Given the description of an element on the screen output the (x, y) to click on. 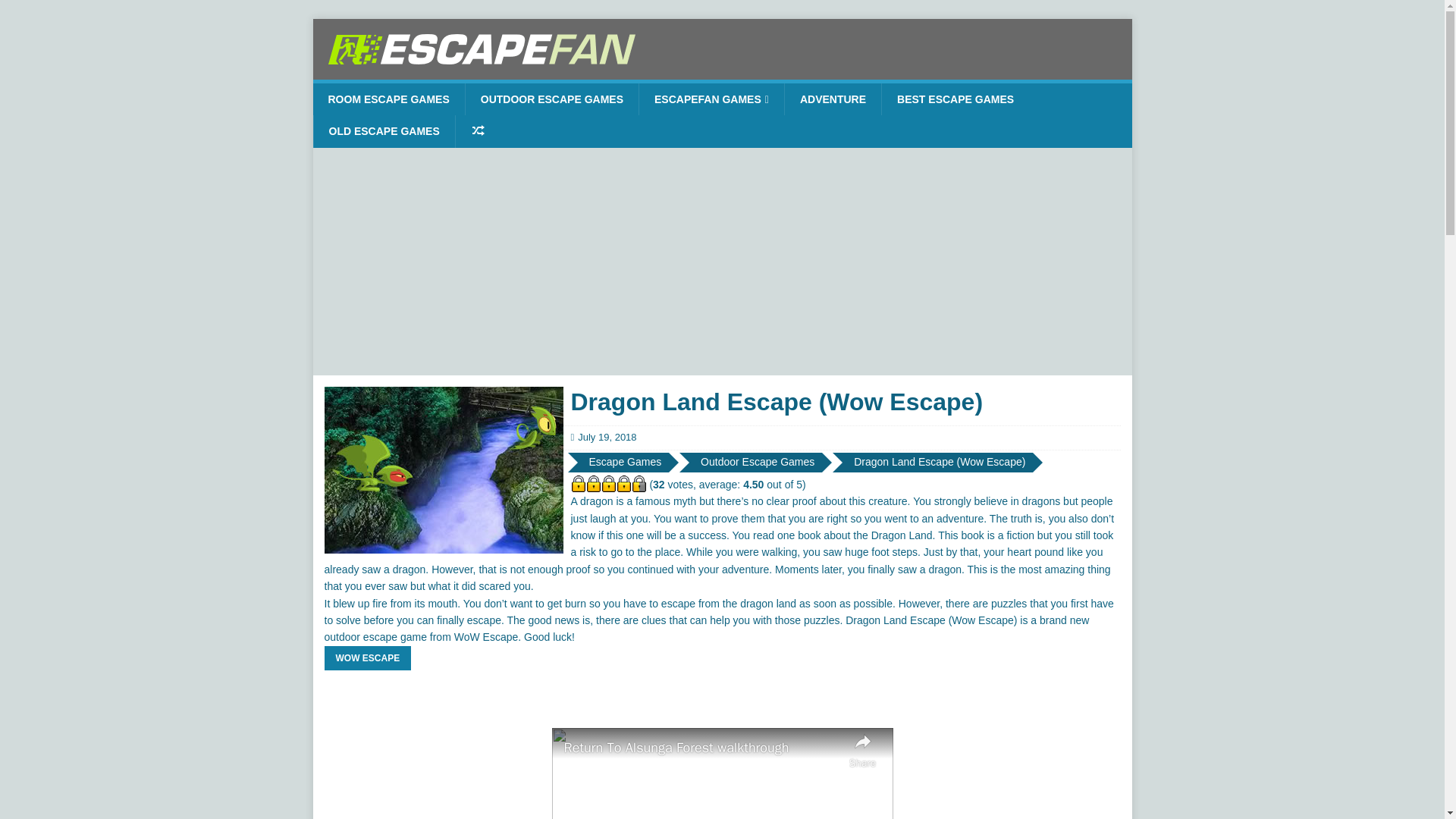
ESCAPEFAN GAMES (711, 99)
Escape Games (624, 462)
OUTDOOR ESCAPE GAMES (551, 99)
Outdoor Escape Games (757, 462)
dragon-land-escape-game (443, 469)
Return To Alsunga Forest walkthrough (702, 748)
ADVENTURE (832, 99)
Random Escape Game (477, 131)
Escape Games (624, 462)
July 19, 2018 (607, 437)
Outdoor Escape Games (757, 462)
BEST ESCAPE GAMES (954, 99)
strongly believe in dragons (997, 500)
OLD ESCAPE GAMES (383, 131)
ROOM ESCAPE GAMES (388, 99)
